Given the description of an element on the screen output the (x, y) to click on. 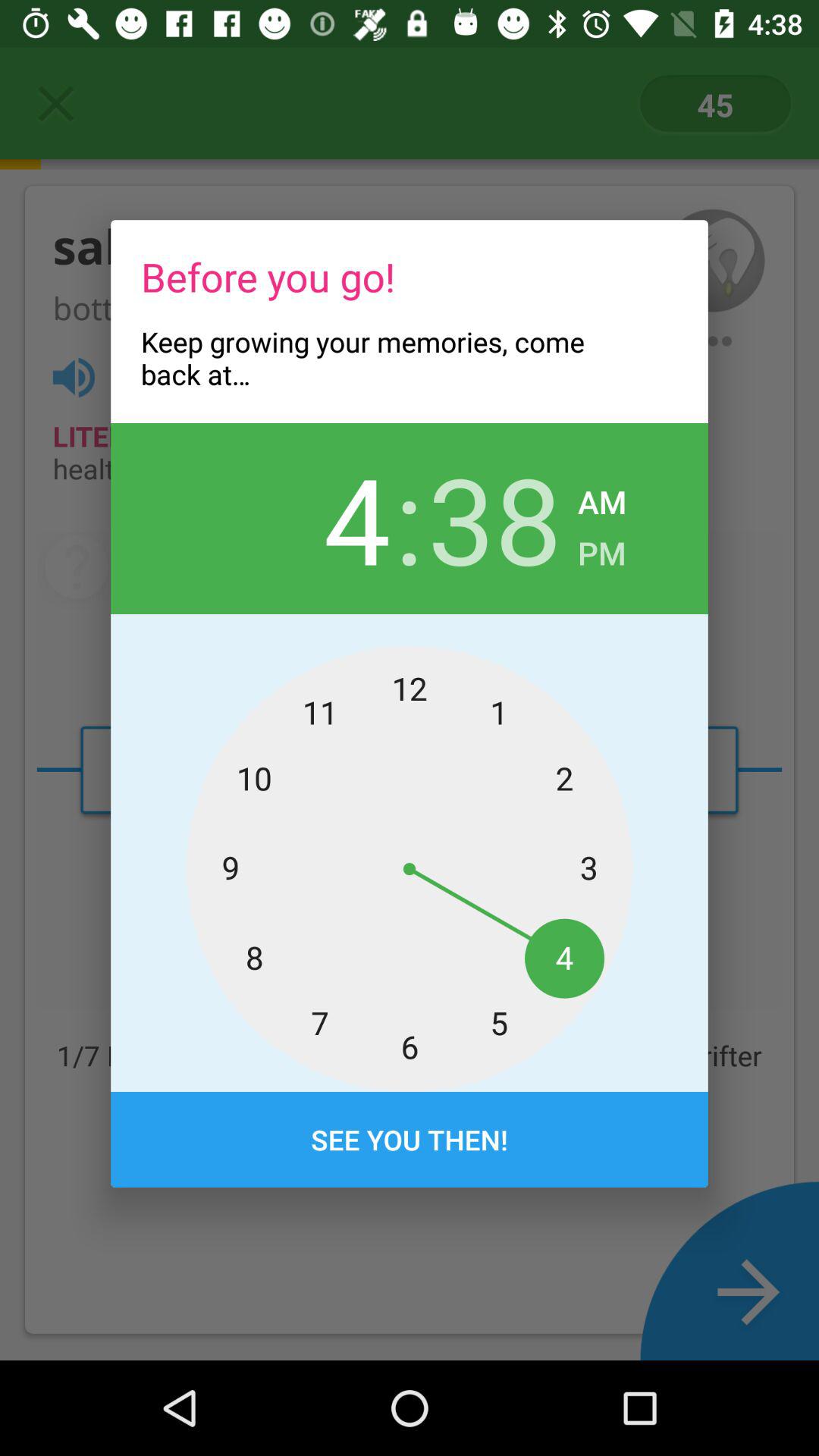
launch the am icon (601, 497)
